Given the description of an element on the screen output the (x, y) to click on. 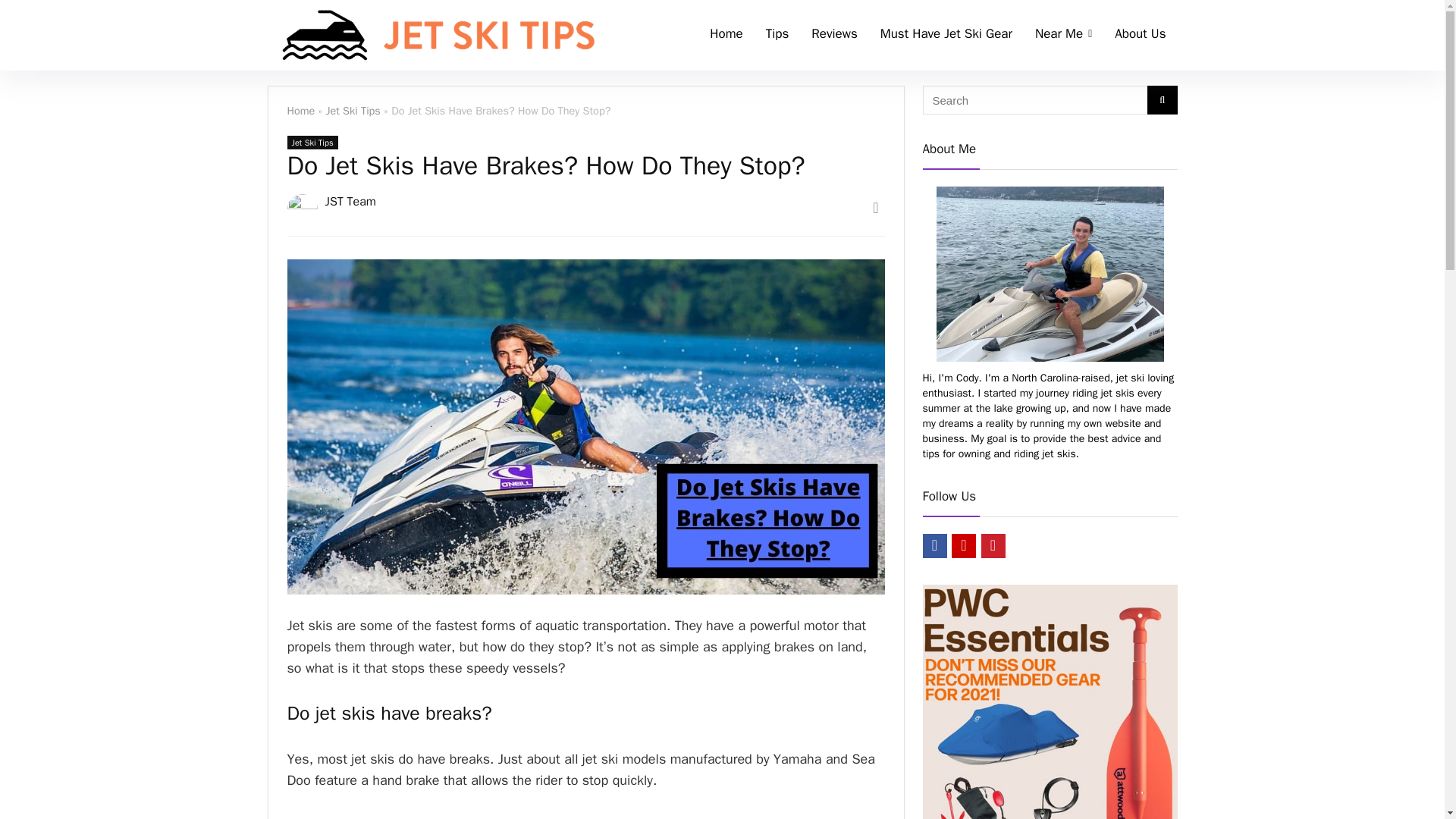
Reviews (833, 35)
Home (726, 35)
Must Have Jet Ski Gear (946, 35)
Jet Ski Tips (311, 142)
JST Team (349, 201)
Jet Ski Tips (353, 110)
Near Me (1063, 35)
Tips (777, 35)
Home (300, 110)
View all posts in Jet Ski Tips (311, 142)
